Given the description of an element on the screen output the (x, y) to click on. 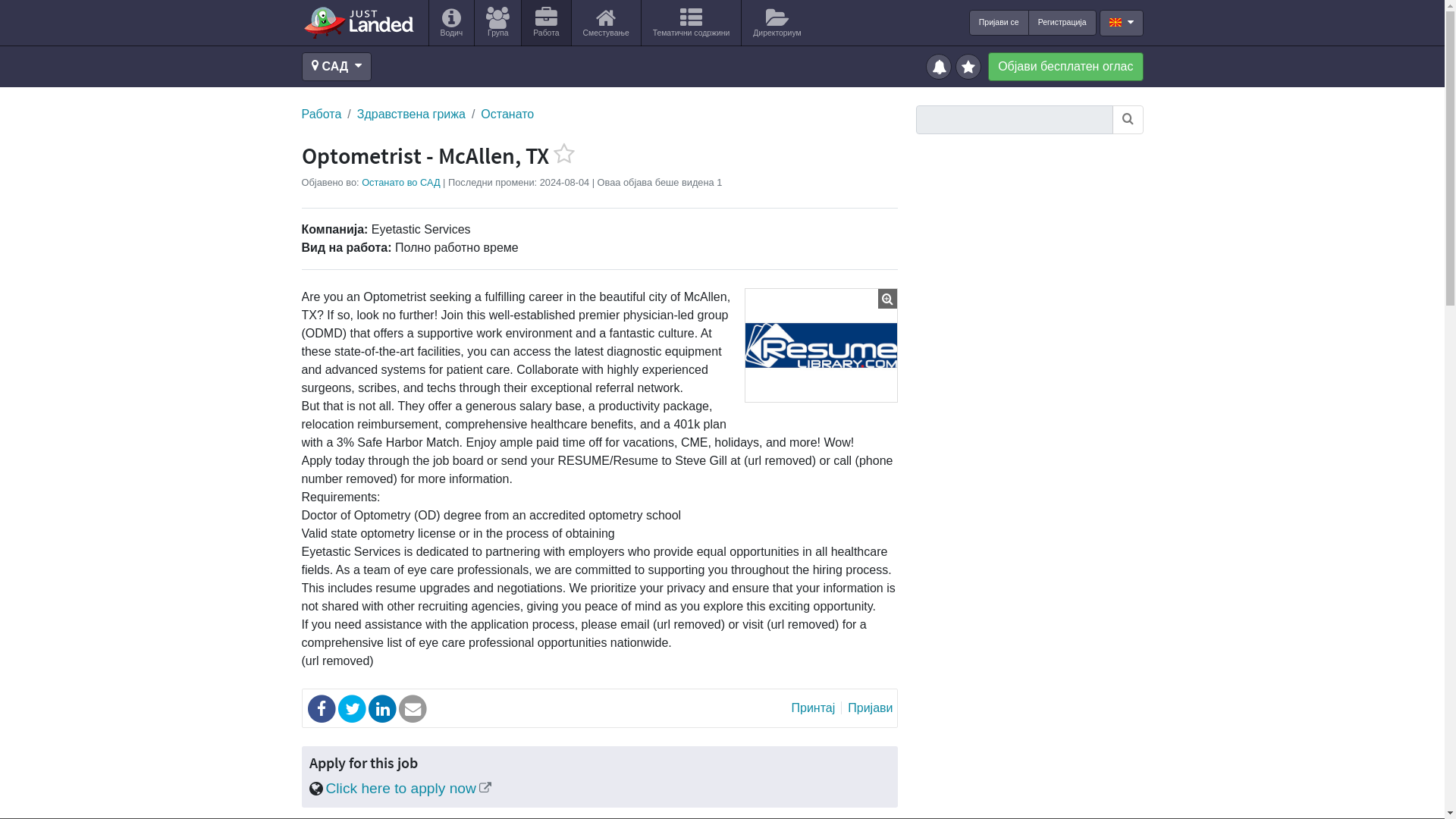
Macedonian (1114, 22)
Just Landed (357, 22)
Just Landed (357, 22)
Alerts (940, 65)
